Given the description of an element on the screen output the (x, y) to click on. 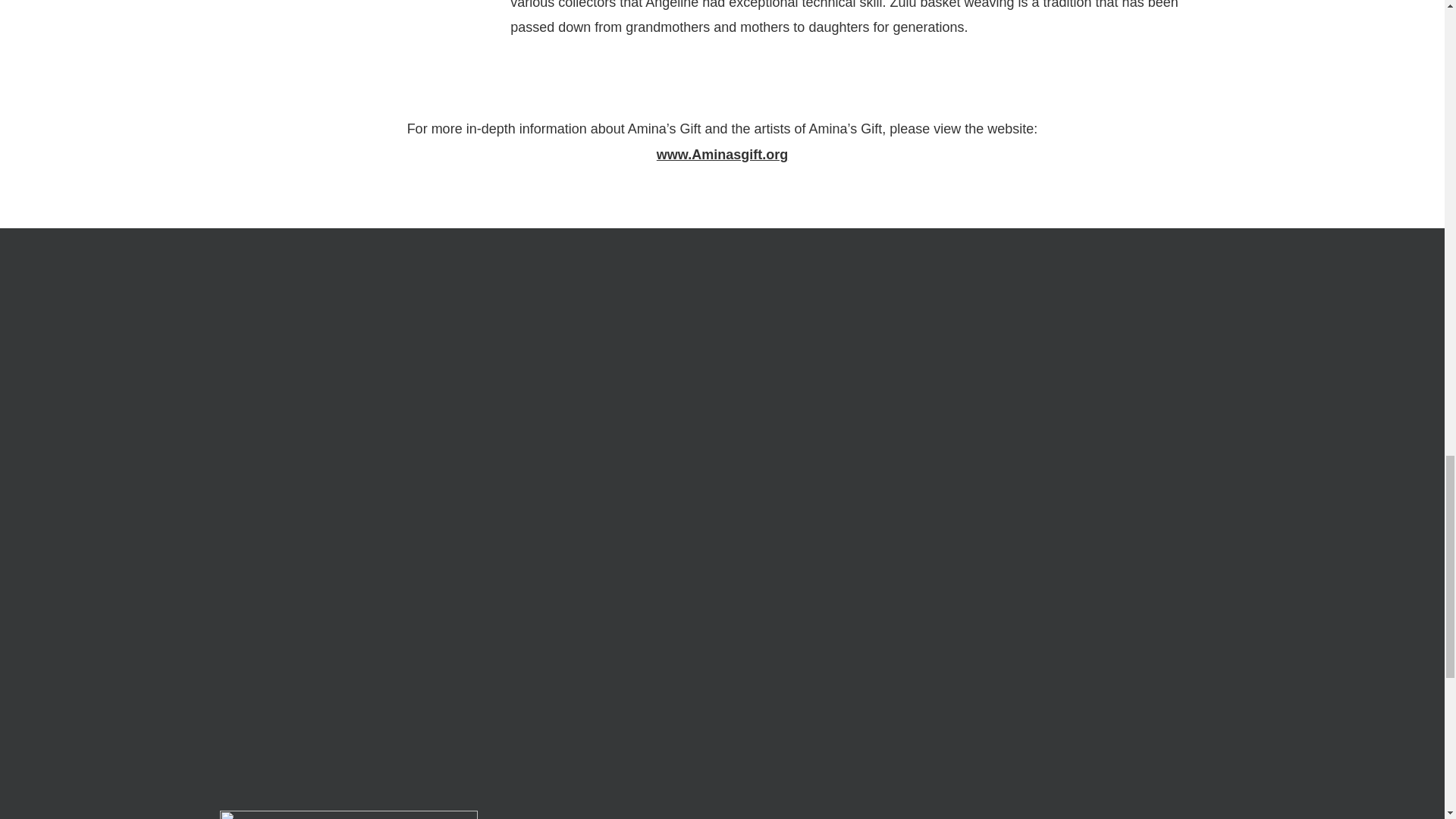
7 (348, 47)
www.Aminasgift.org (721, 154)
